Given the description of an element on the screen output the (x, y) to click on. 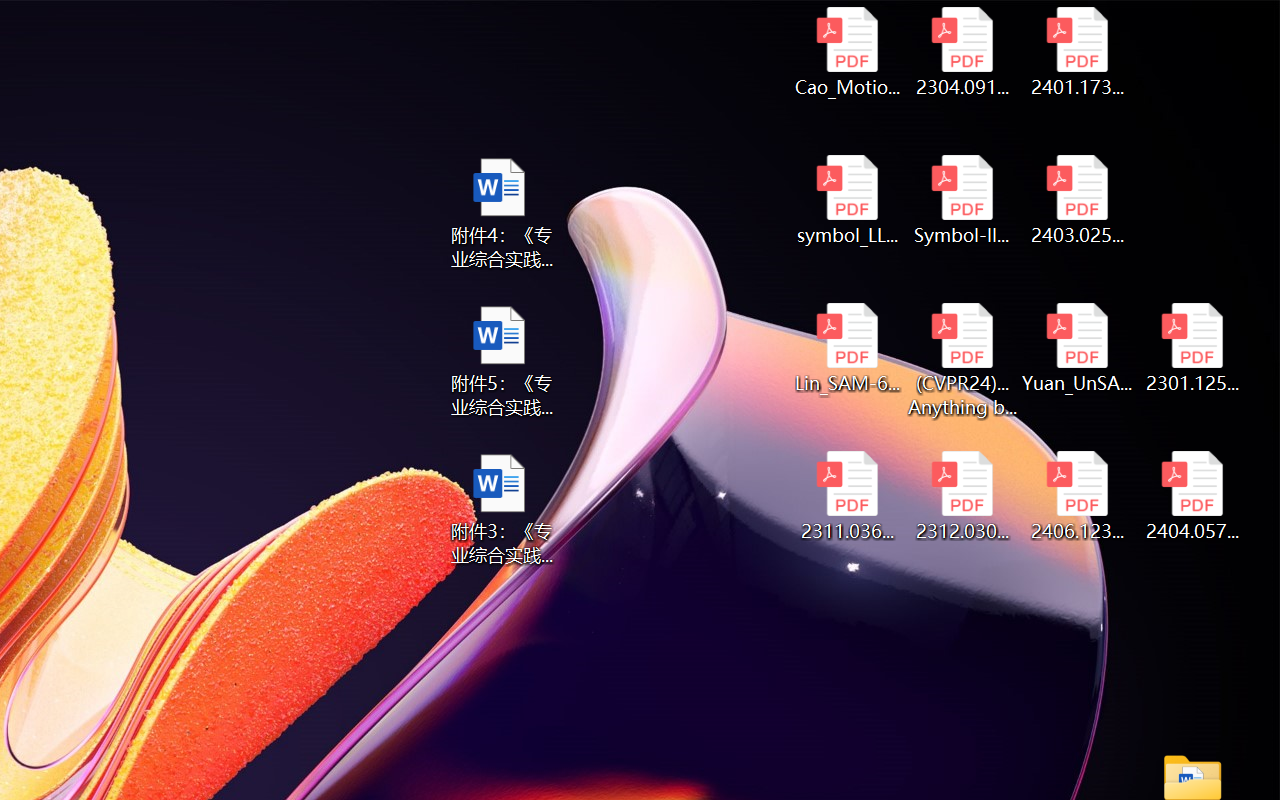
2401.17399v1.pdf (1077, 52)
symbol_LLM.pdf (846, 200)
2311.03658v2.pdf (846, 496)
2404.05719v1.pdf (1192, 496)
Symbol-llm-v2.pdf (962, 200)
(CVPR24)Matching Anything by Segmenting Anything.pdf (962, 360)
2406.12373v2.pdf (1077, 496)
2301.12597v3.pdf (1192, 348)
2312.03032v2.pdf (962, 496)
2403.02502v1.pdf (1077, 200)
